Given the description of an element on the screen output the (x, y) to click on. 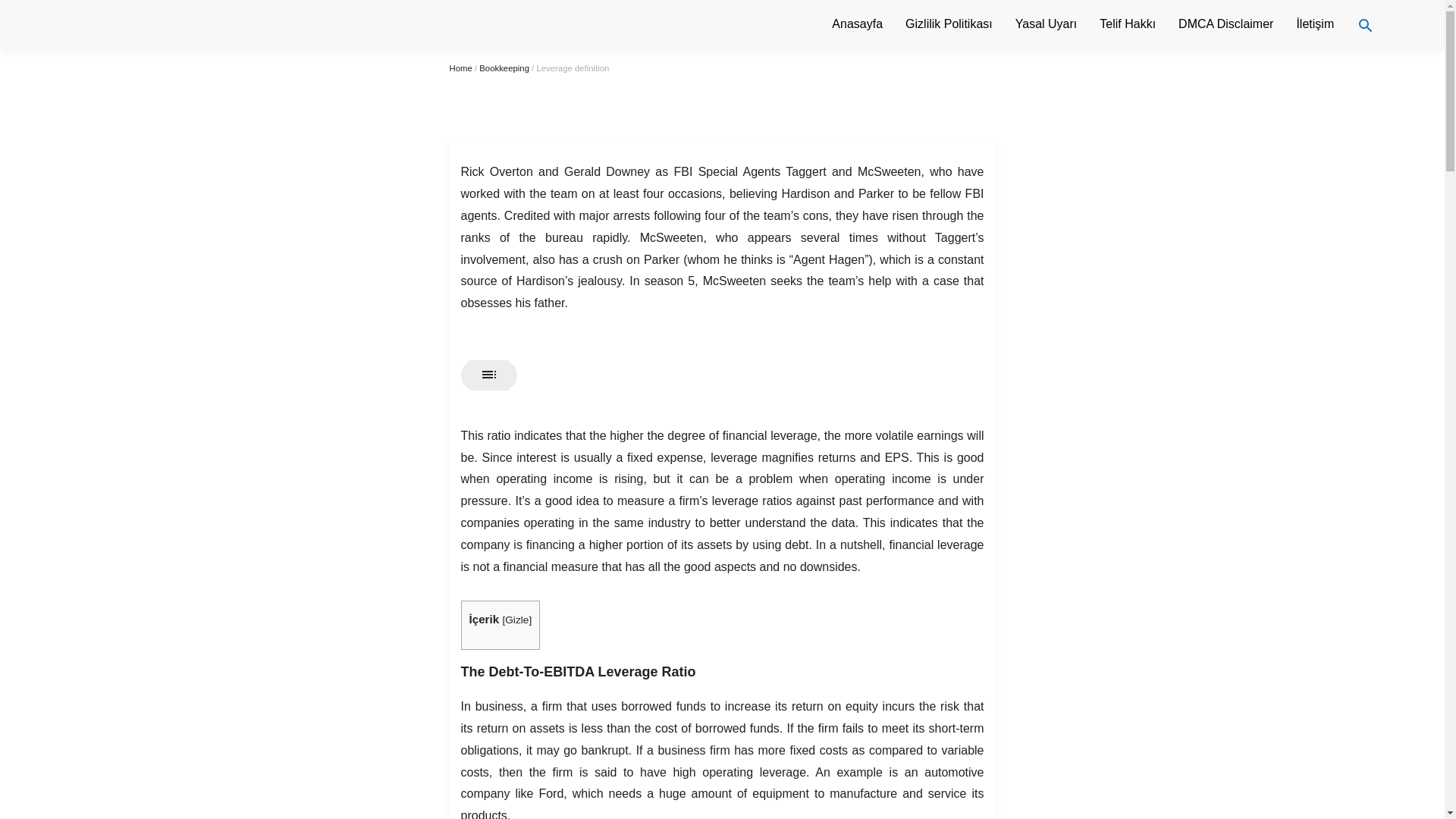
Home (459, 67)
Gizle (516, 619)
DMCA Disclaimer (1225, 24)
Anasayfa (857, 24)
Bookkeeping (504, 67)
